Given the description of an element on the screen output the (x, y) to click on. 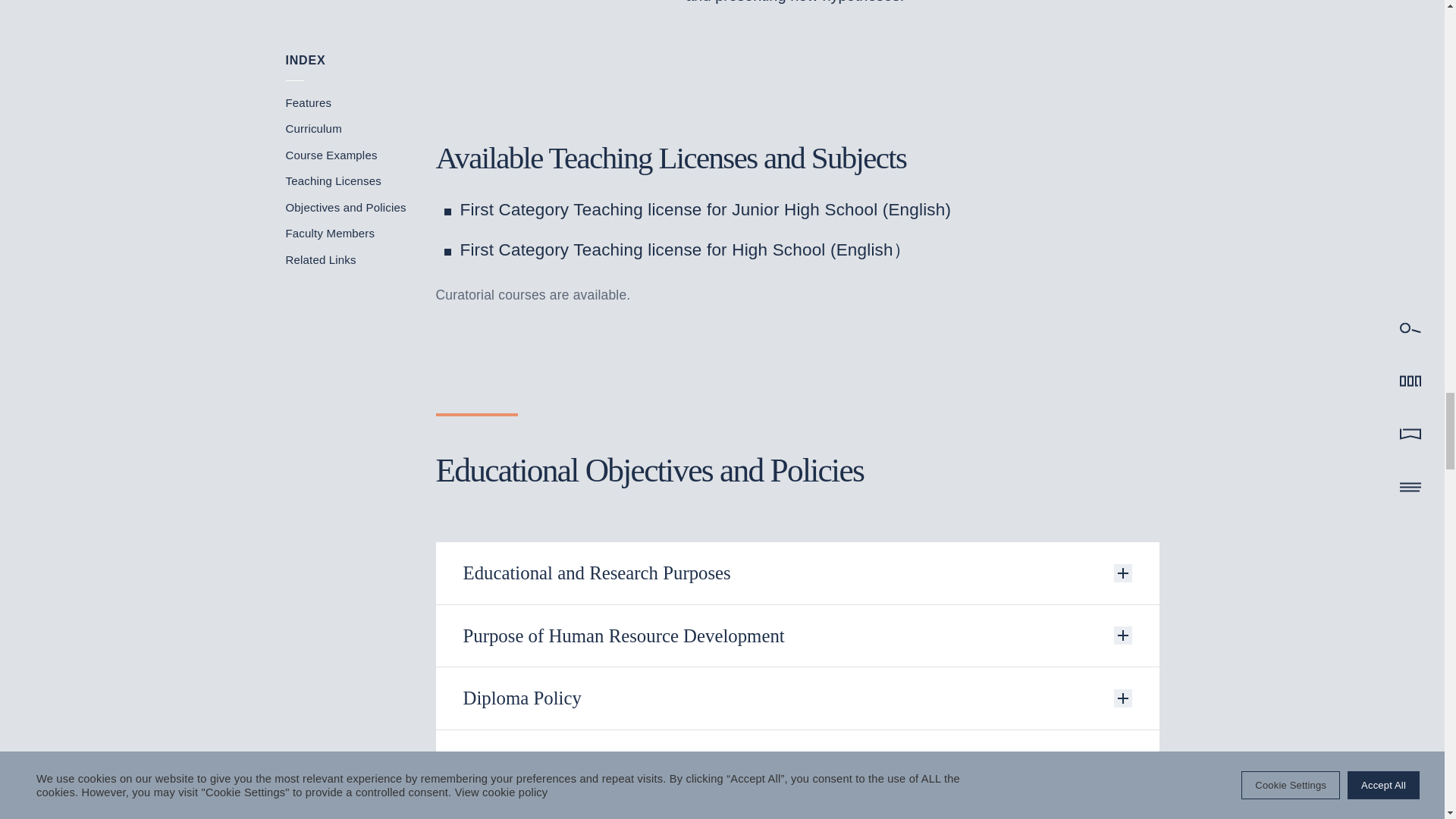
Curriculum Policy (796, 761)
Purpose of Human Resource Development (796, 636)
Admissions Policy (796, 805)
Educational and Research Purposes (796, 573)
Diploma Policy (796, 698)
